Given the description of an element on the screen output the (x, y) to click on. 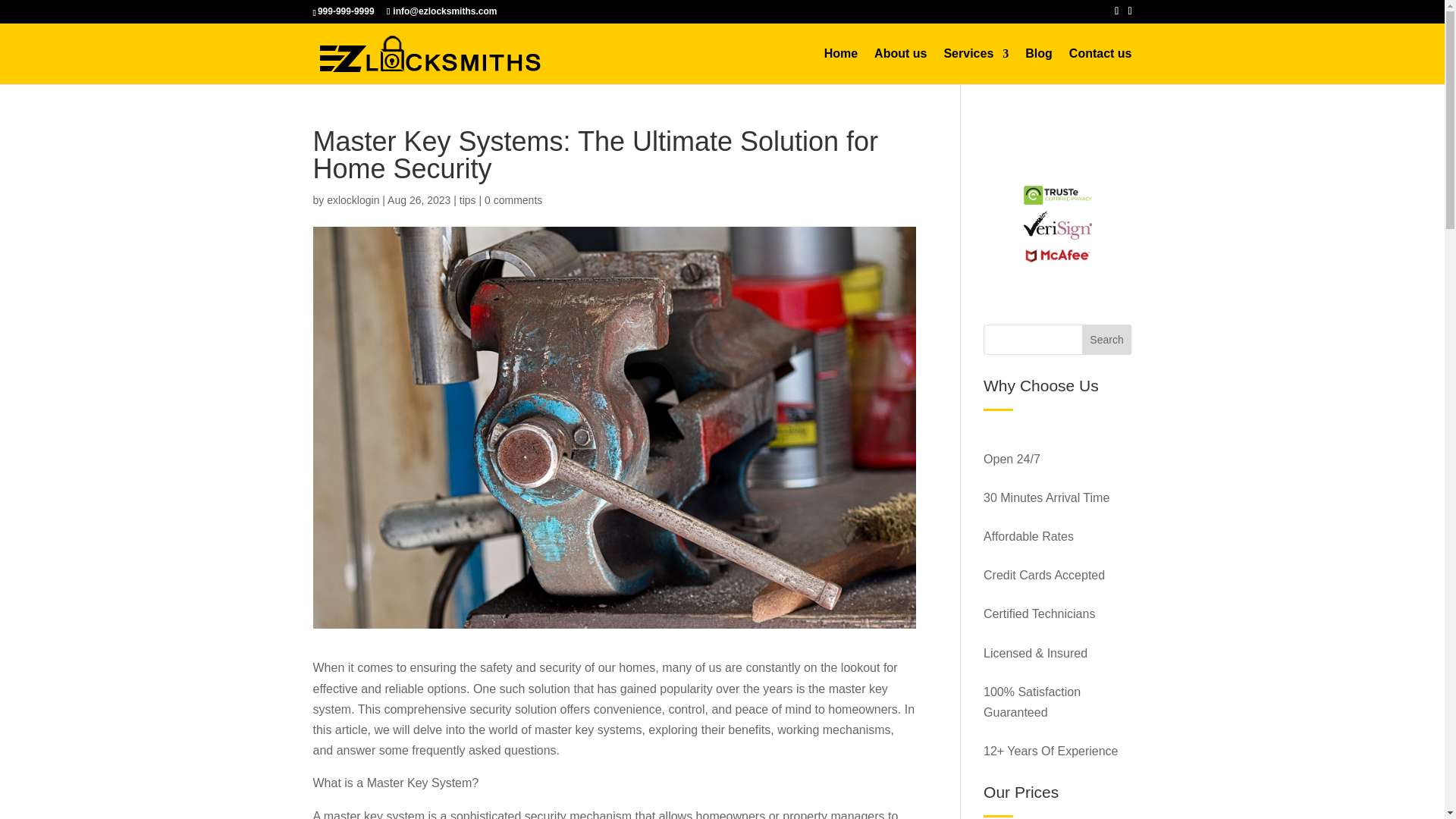
Services (976, 66)
Contact us (1100, 66)
About us (900, 66)
Search (1106, 339)
Home (840, 66)
Posts by exlocklogin (352, 200)
